Given the description of an element on the screen output the (x, y) to click on. 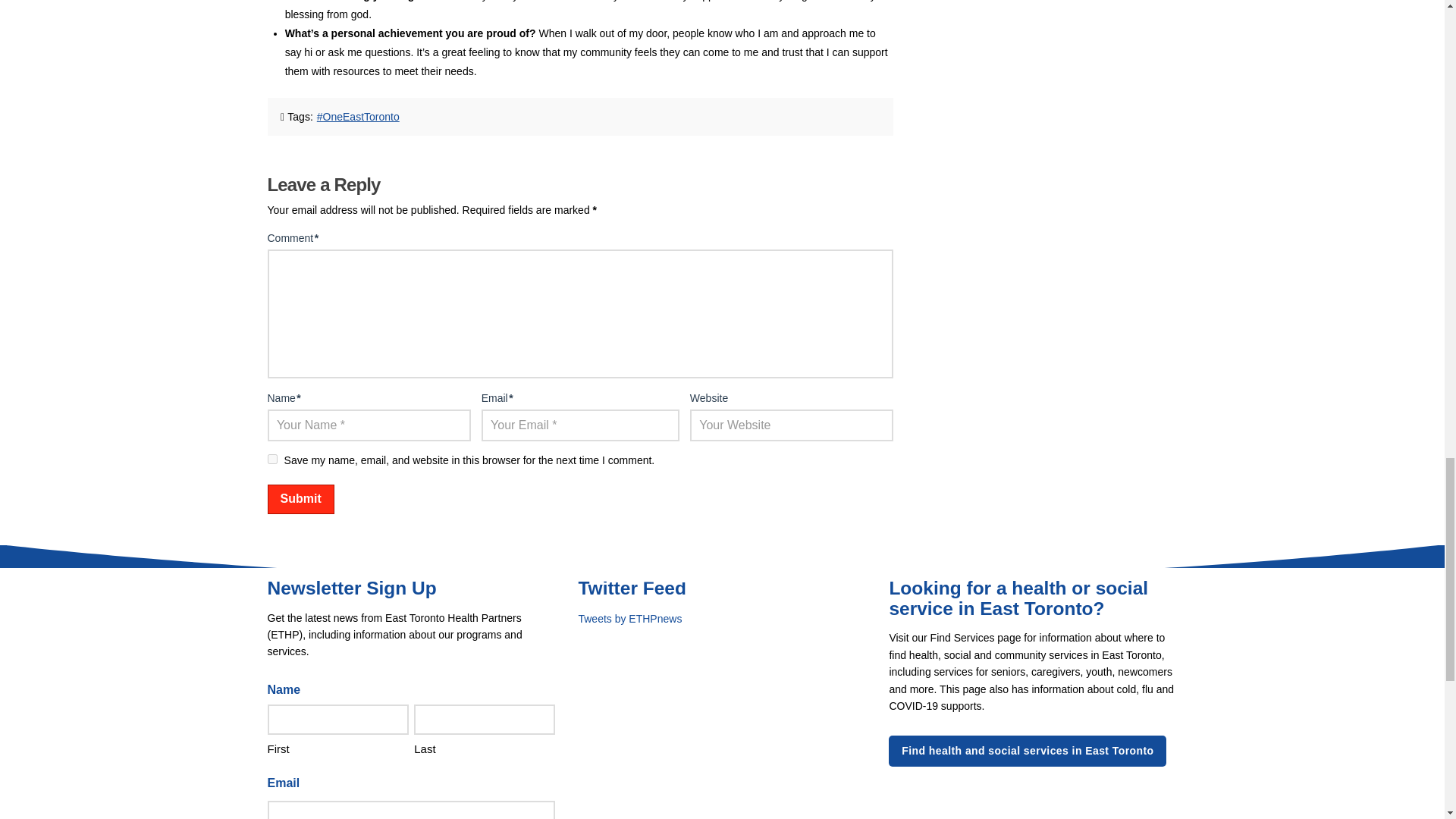
Submit (299, 499)
Tweets by ETHPnews (629, 618)
Find health and social services in East Toronto (1027, 750)
yes (271, 459)
Submit (299, 499)
